Given the description of an element on the screen output the (x, y) to click on. 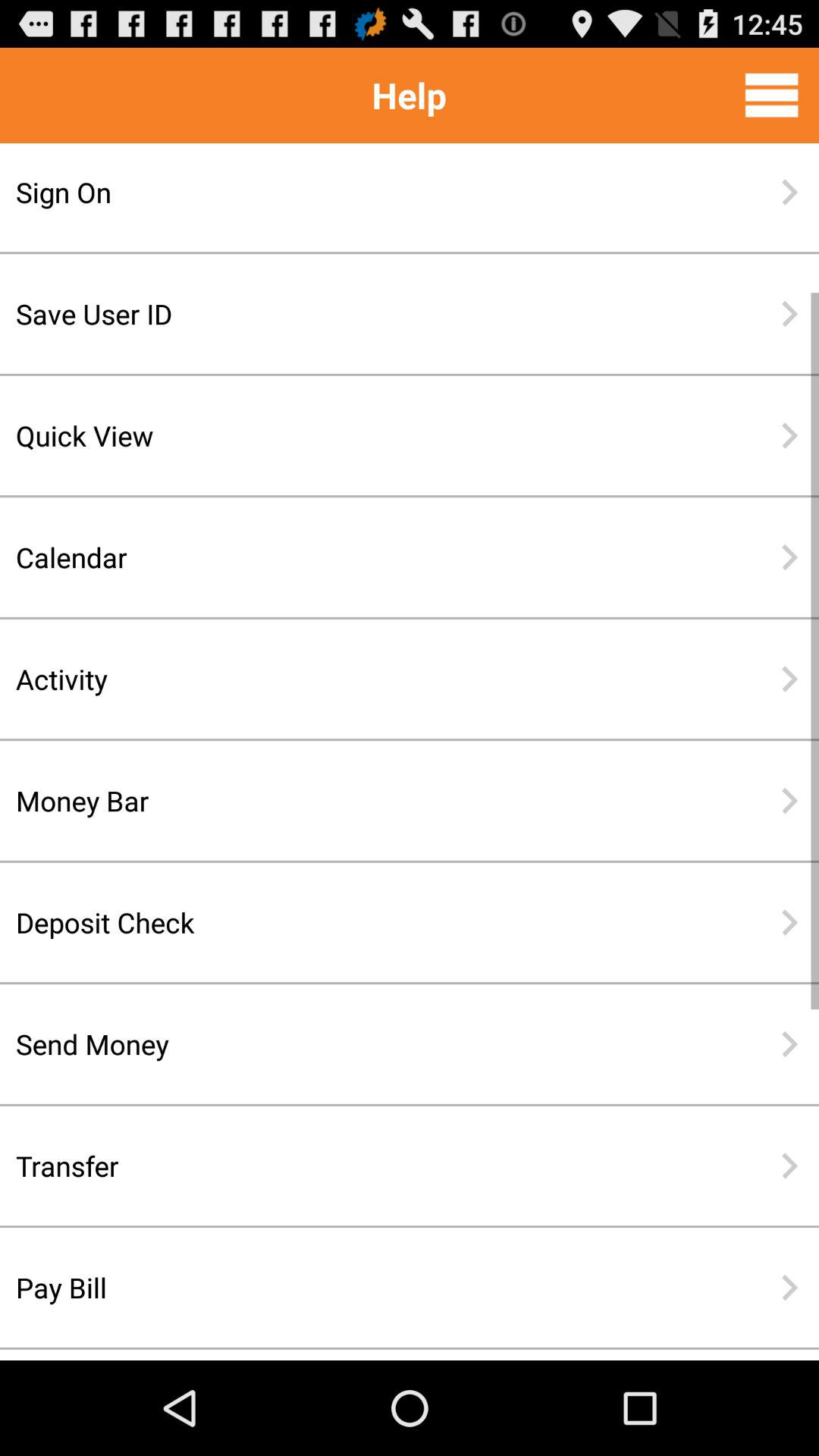
scroll to quick view item (359, 435)
